Given the description of an element on the screen output the (x, y) to click on. 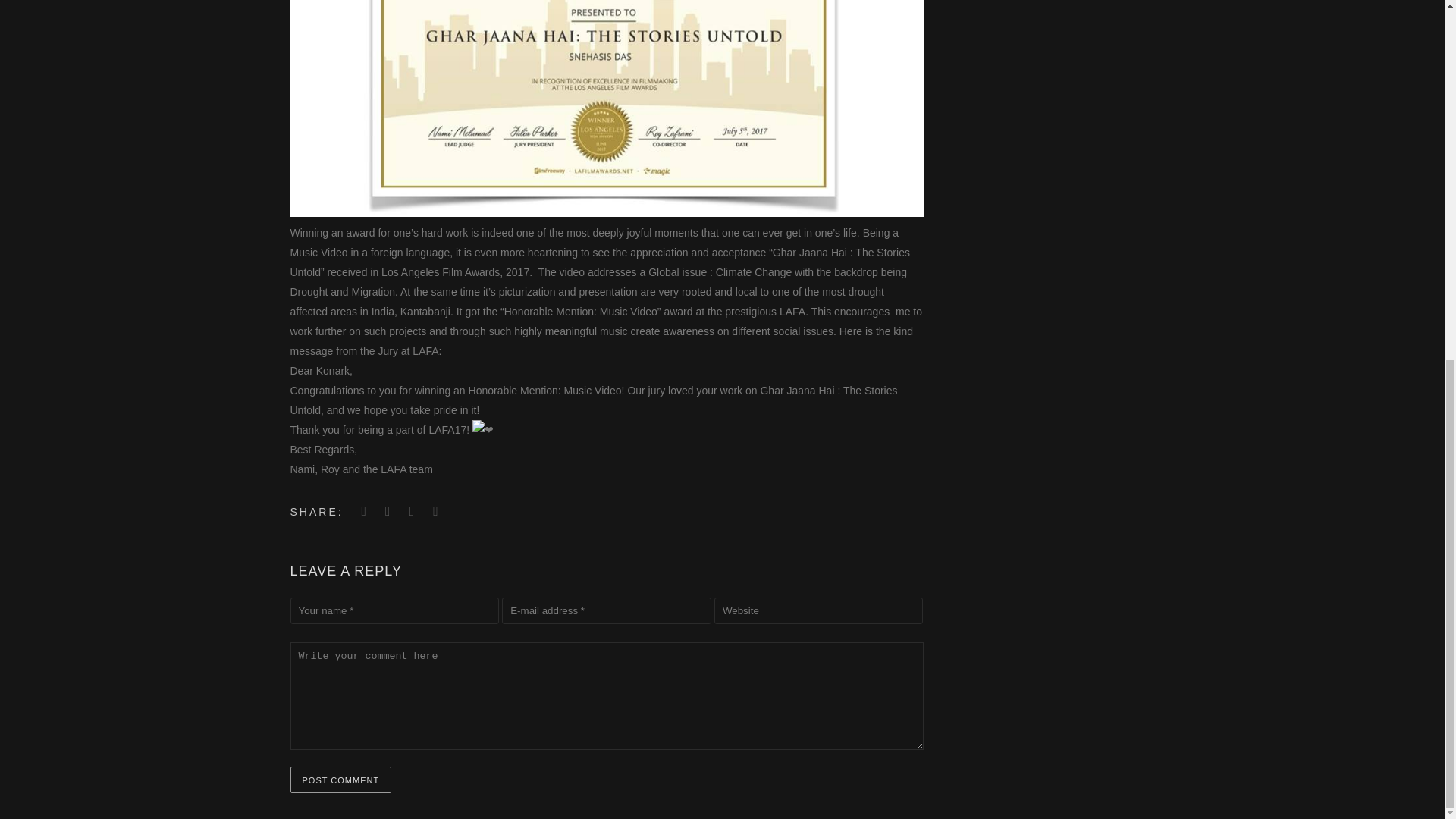
Post Comment (340, 779)
Post Comment (340, 779)
